Given the description of an element on the screen output the (x, y) to click on. 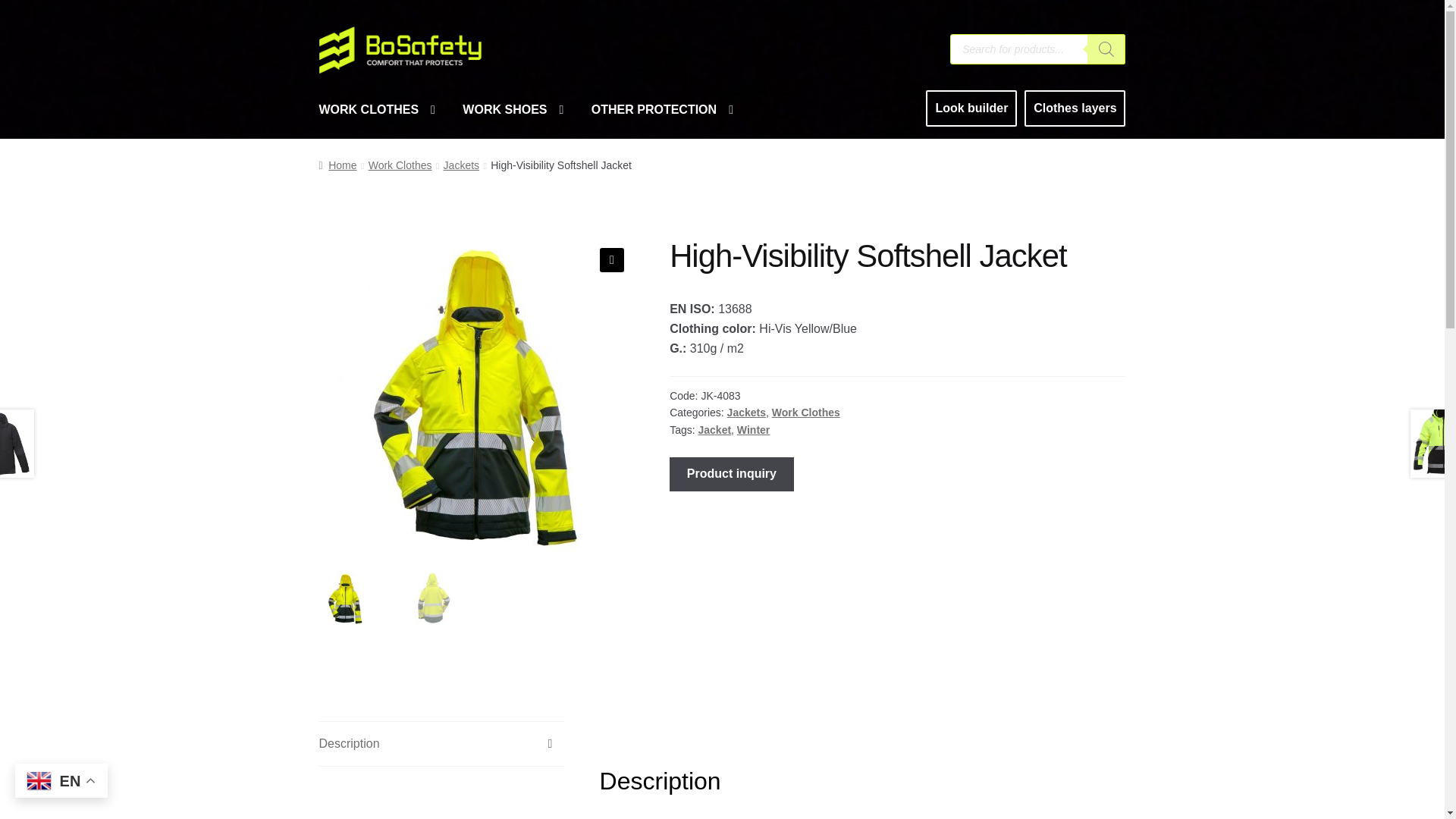
Look builder (971, 108)
Clothes layers (1075, 108)
fb-40832 (792, 394)
OTHER PROTECTION (662, 110)
WORK SHOES (512, 110)
WORK CLOTHES (376, 110)
fb-4083 (476, 394)
